Given the description of an element on the screen output the (x, y) to click on. 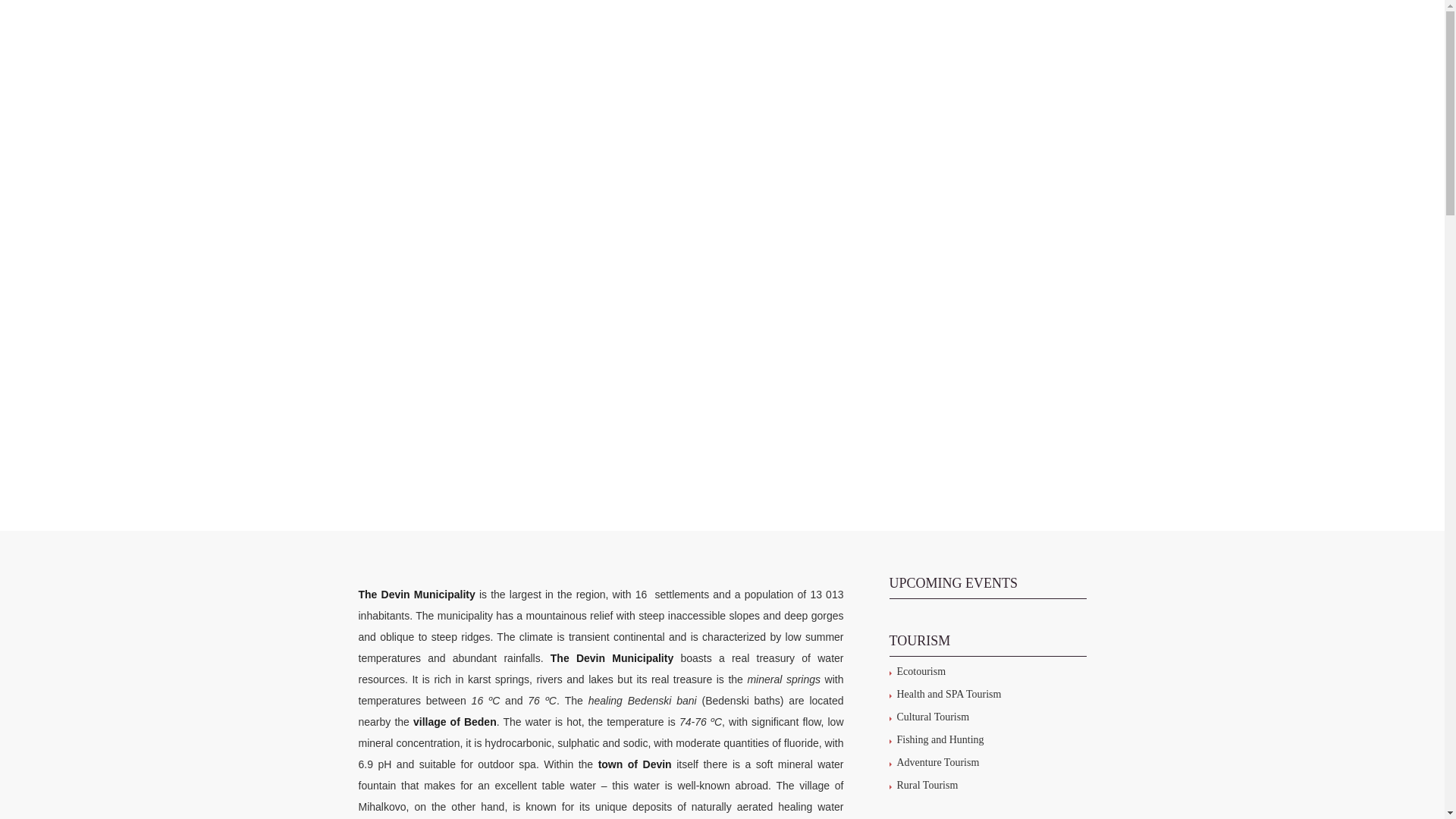
MUNICIPALITIES (689, 61)
TOURISM (774, 61)
Rural Tourism (927, 785)
Ecotourism (920, 671)
Fishing and Hunting (940, 739)
Adventure Tourism (937, 762)
VIDEOS (1059, 61)
Cultural Tourism (932, 716)
GALLERIES (992, 61)
Health and SPA Tourism (948, 694)
